Given the description of an element on the screen output the (x, y) to click on. 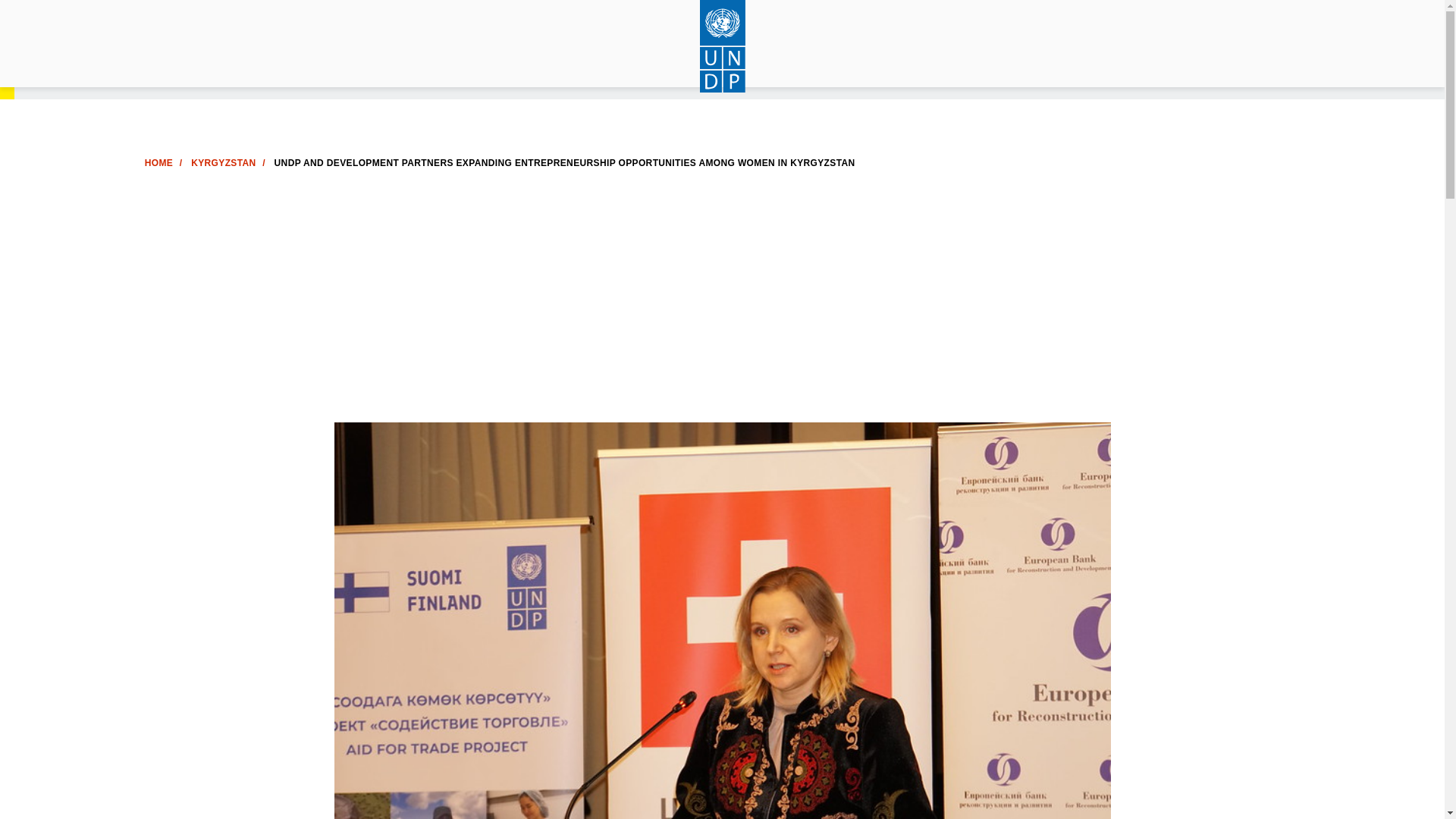
HOME (158, 163)
KYRGYZSTAN (223, 163)
